Given the description of an element on the screen output the (x, y) to click on. 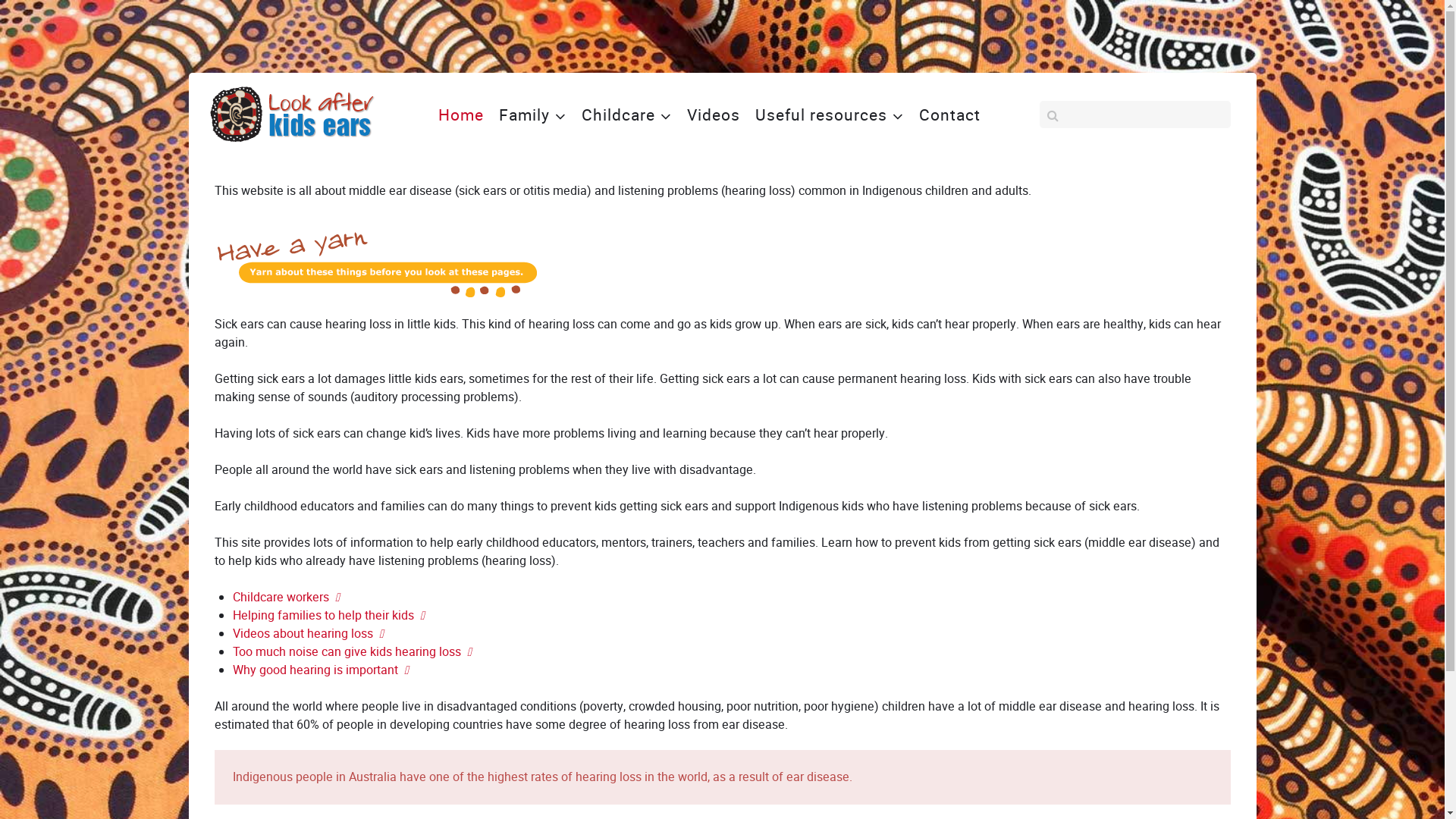
Videos about hearing loss Element type: text (307, 633)
Childcare Element type: text (625, 114)
Contact Element type: text (949, 114)
Useful resources Element type: text (829, 114)
Family Element type: text (532, 114)
Videos Element type: text (713, 114)
Too much noise can give kids hearing loss Element type: text (351, 651)
Childcare workers Element type: text (285, 596)
Why good hearing is important Element type: text (319, 669)
Home Element type: text (460, 114)
Helping families to help their kids Element type: text (327, 615)
